Given the description of an element on the screen output the (x, y) to click on. 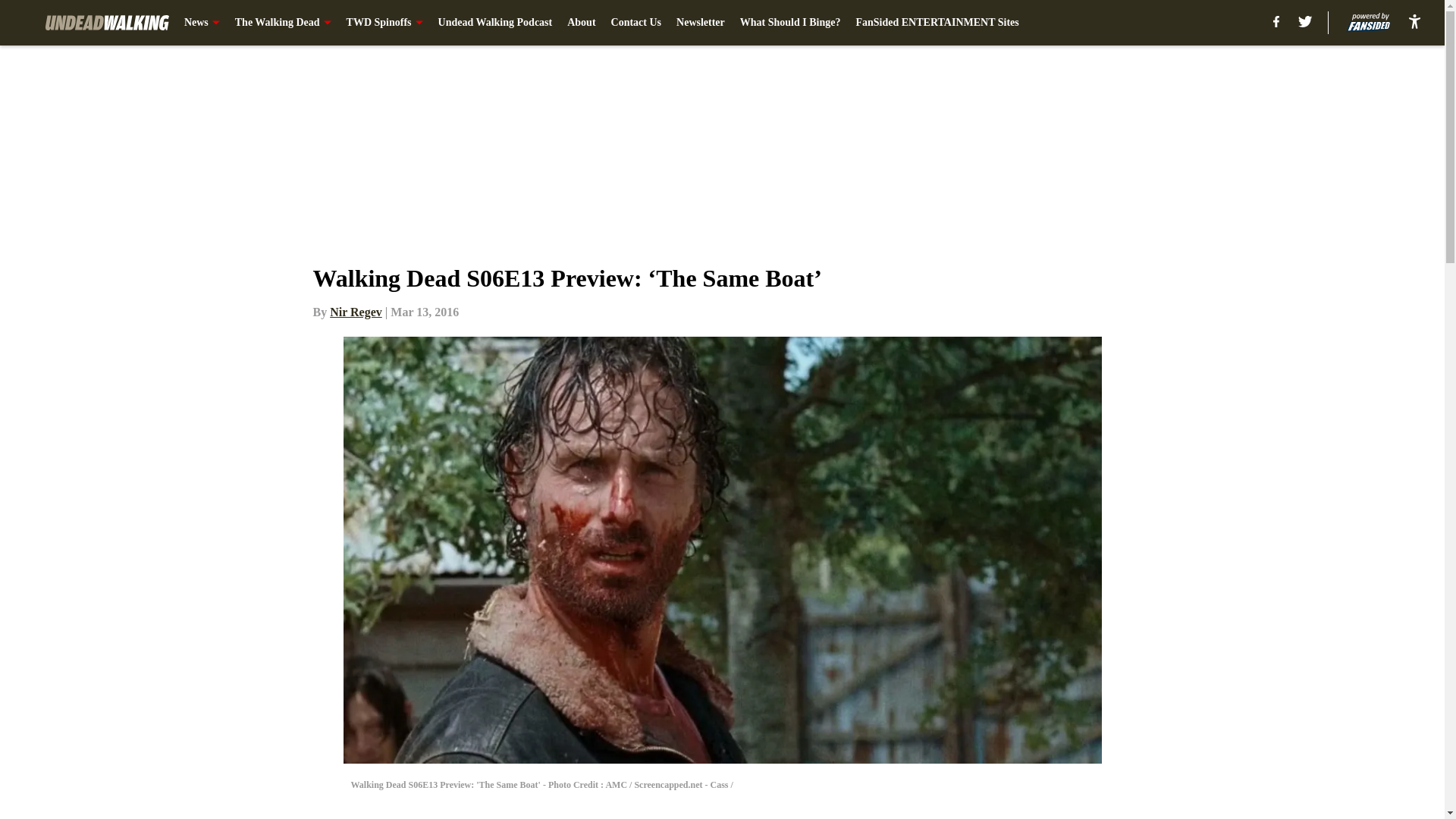
About (581, 22)
Nir Regev (355, 311)
Undead Walking Podcast (495, 22)
FanSided ENTERTAINMENT Sites (936, 22)
What Should I Binge? (790, 22)
Contact Us (636, 22)
Newsletter (701, 22)
